Given the description of an element on the screen output the (x, y) to click on. 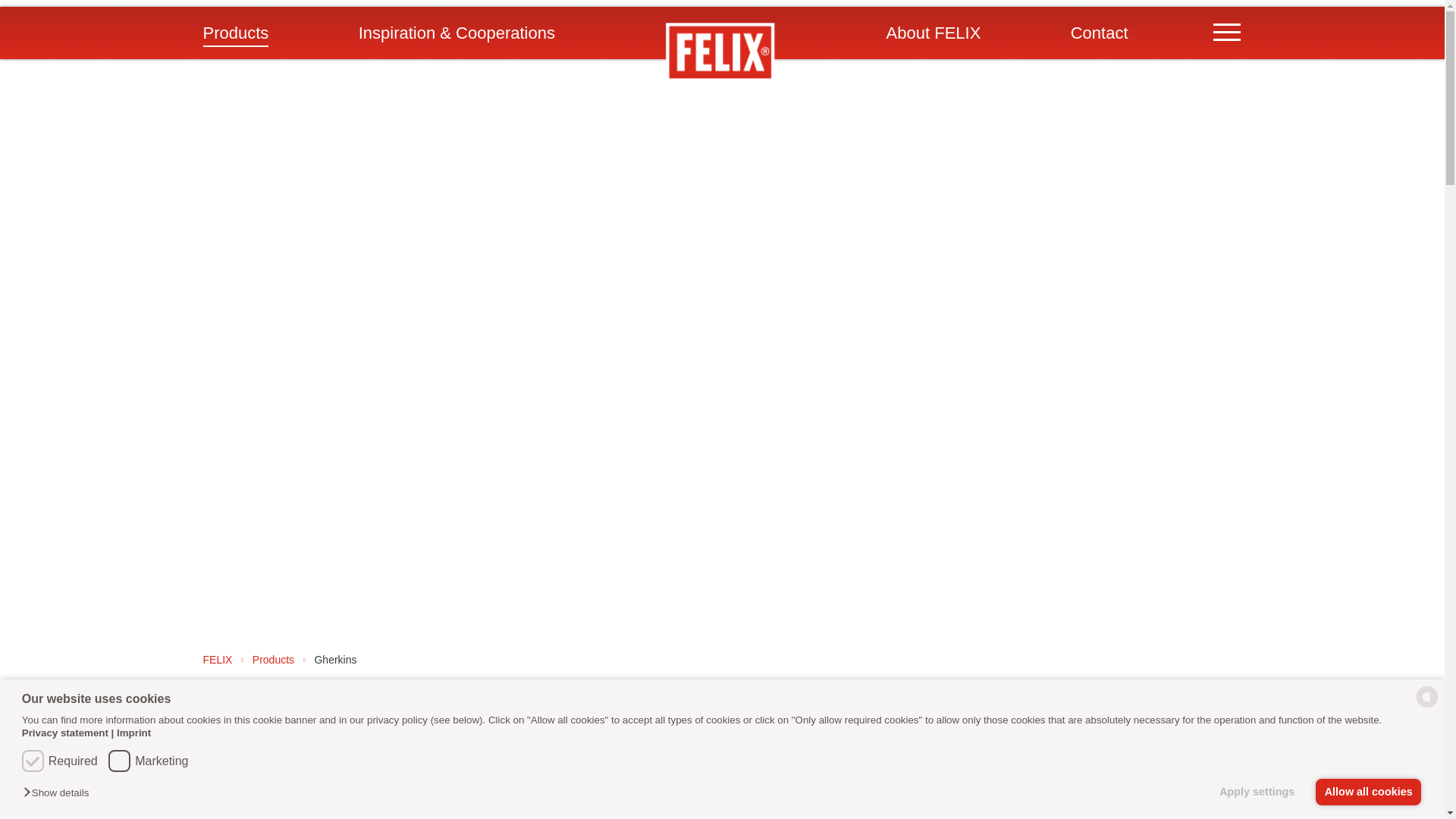
Privacy statement (64, 732)
About FELIX (933, 33)
Imprint (131, 732)
Allow all cookies (1368, 791)
Privacy statement (64, 732)
powered by Datareporter (1427, 705)
Apply settings (1261, 791)
Products (236, 33)
Show details (59, 793)
Contact (1099, 33)
